Given the description of an element on the screen output the (x, y) to click on. 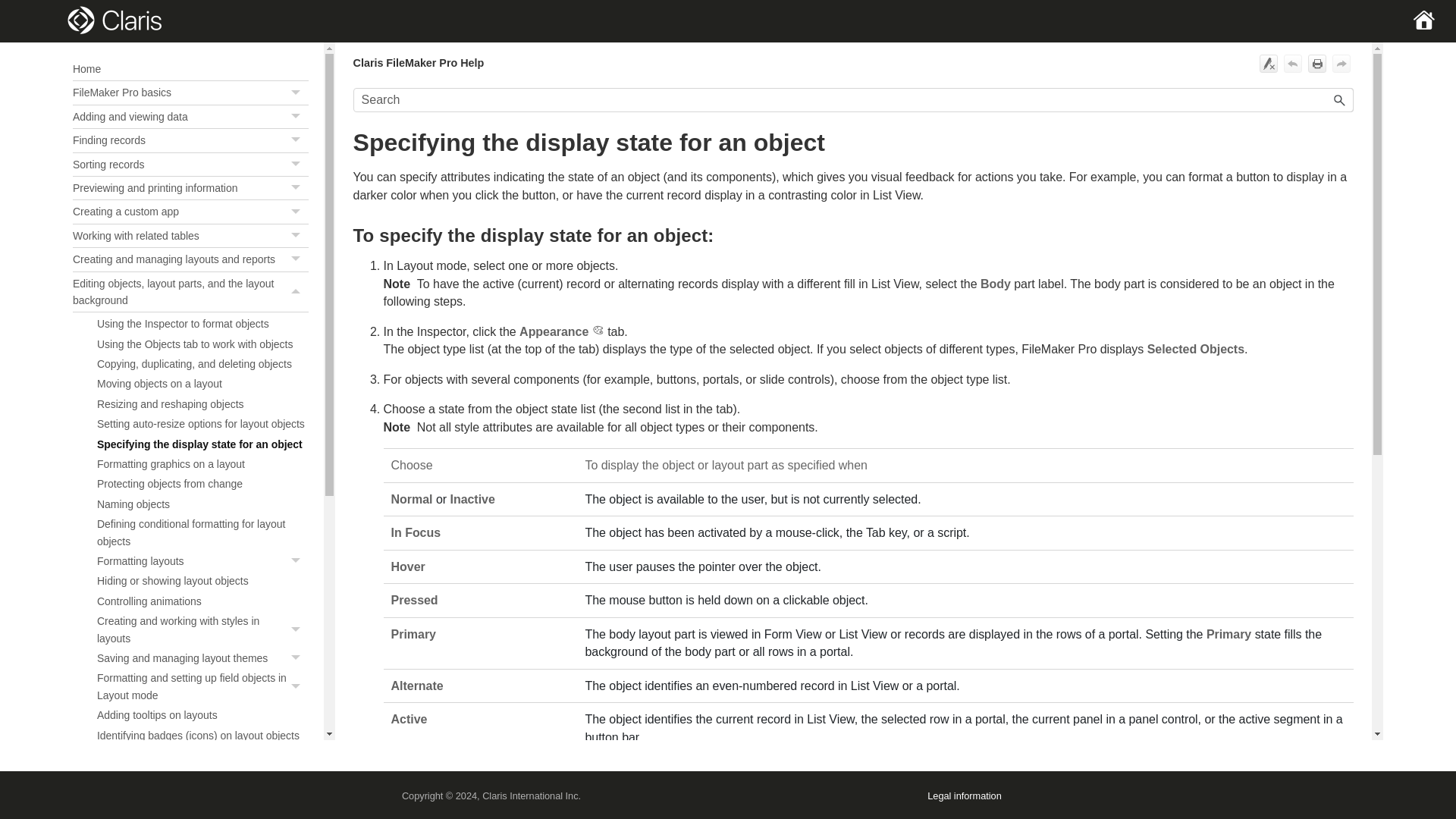
Protecting objects from change (202, 560)
Using the Inspector to format objects (190, 187)
Using the Objects tab to work with objects (190, 259)
Claris Help Center (190, 164)
